Given the description of an element on the screen output the (x, y) to click on. 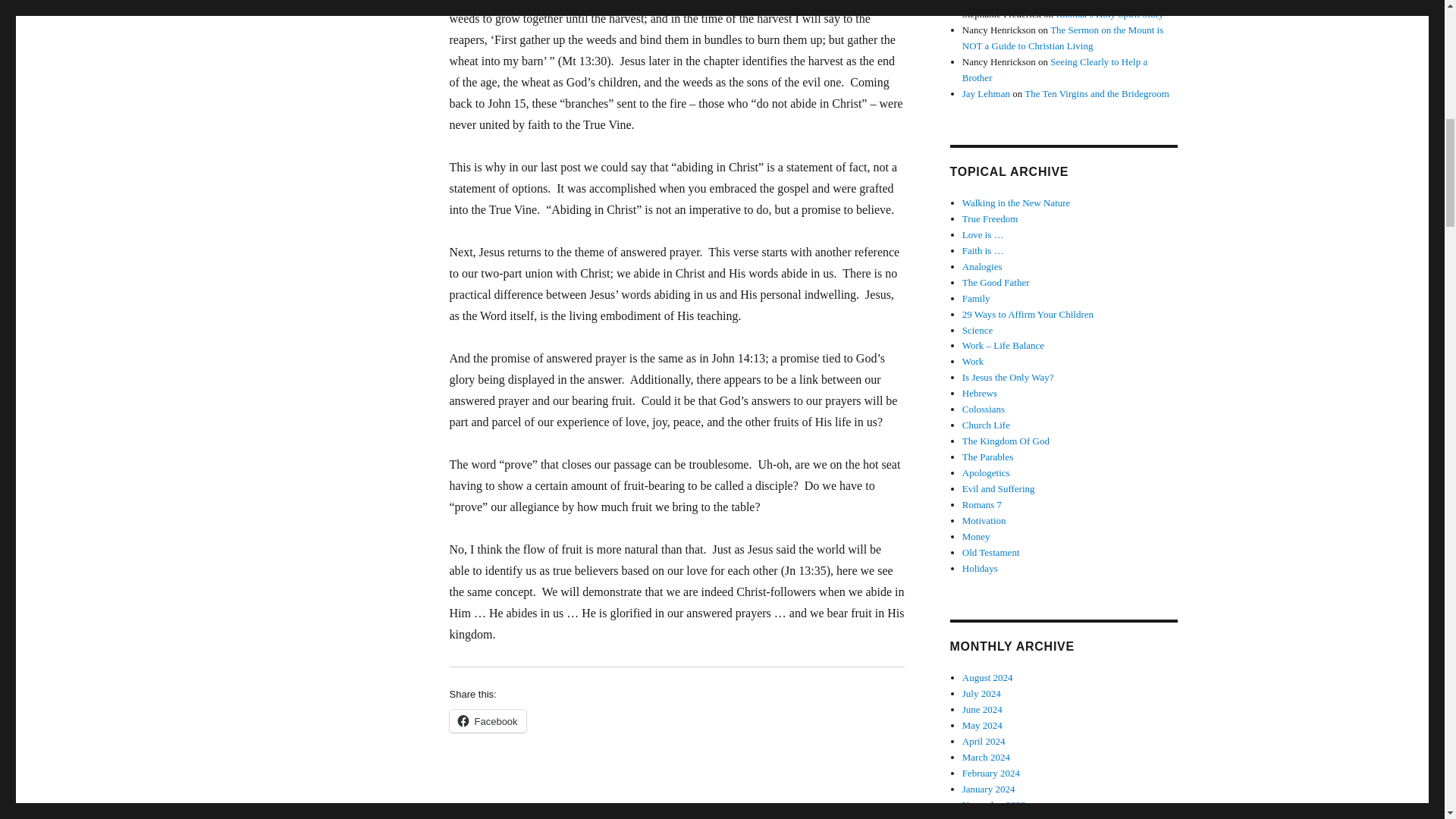
Walking in the New Nature (1016, 202)
Analogies (982, 266)
Click to share on Facebook (486, 721)
The End of the Old Covenant (1107, 2)
The Ten Virgins and the Bridegroom (1097, 93)
Family (976, 297)
Facebook (486, 721)
True Freedom (989, 218)
Work (973, 360)
29 Ways to Affirm Your Children (1027, 314)
